Given the description of an element on the screen output the (x, y) to click on. 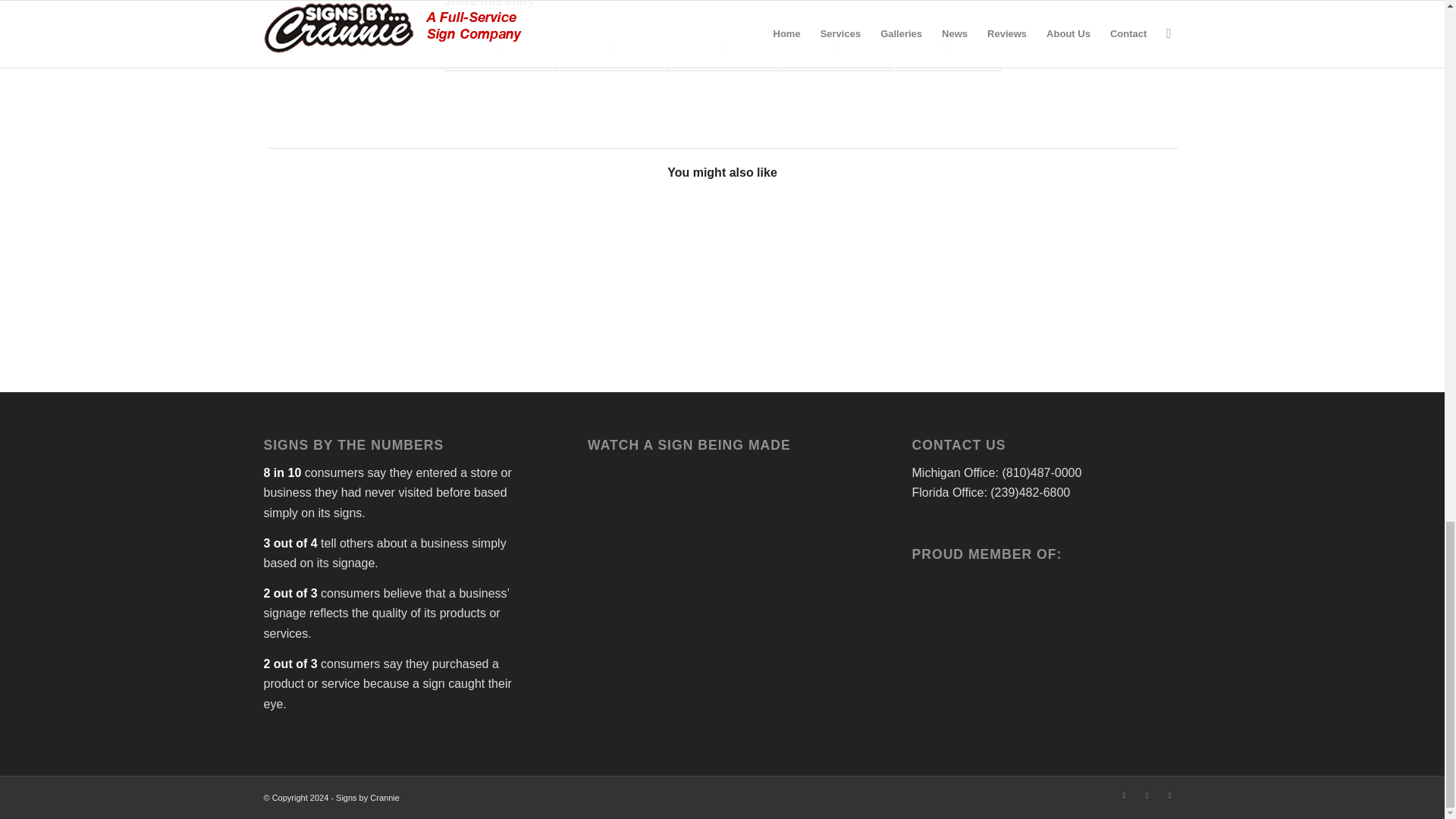
Custom Monument Sign (663, 250)
Midland Area Community Foundation (436, 250)
Powers High School Donor Wall Sign (322, 250)
Diplomat Pharmacy, Flint, MI (550, 250)
